Given the description of an element on the screen output the (x, y) to click on. 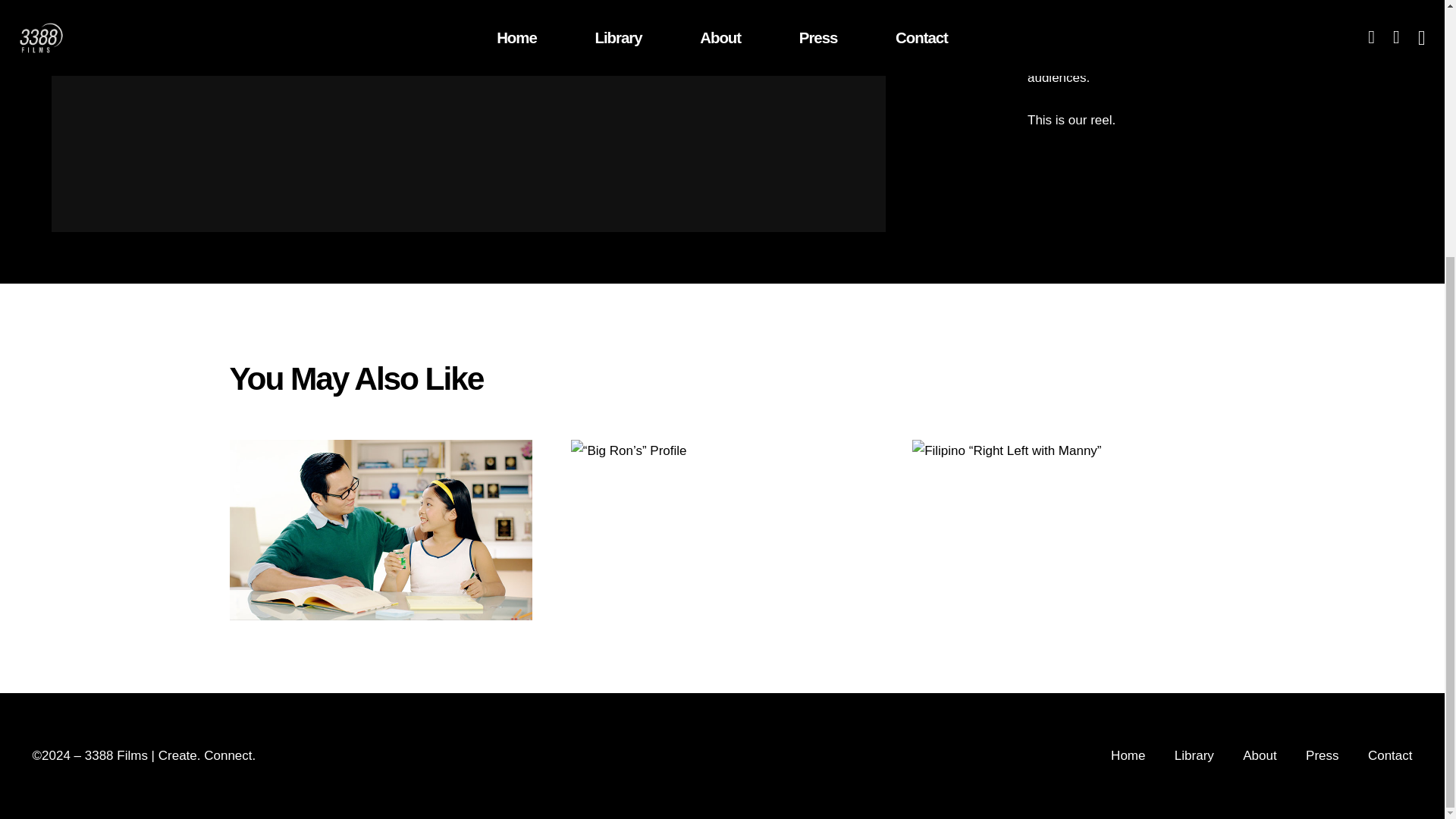
Home (1127, 755)
Contact (1390, 755)
Press (1322, 755)
Library (1194, 755)
About (1259, 755)
